Given the description of an element on the screen output the (x, y) to click on. 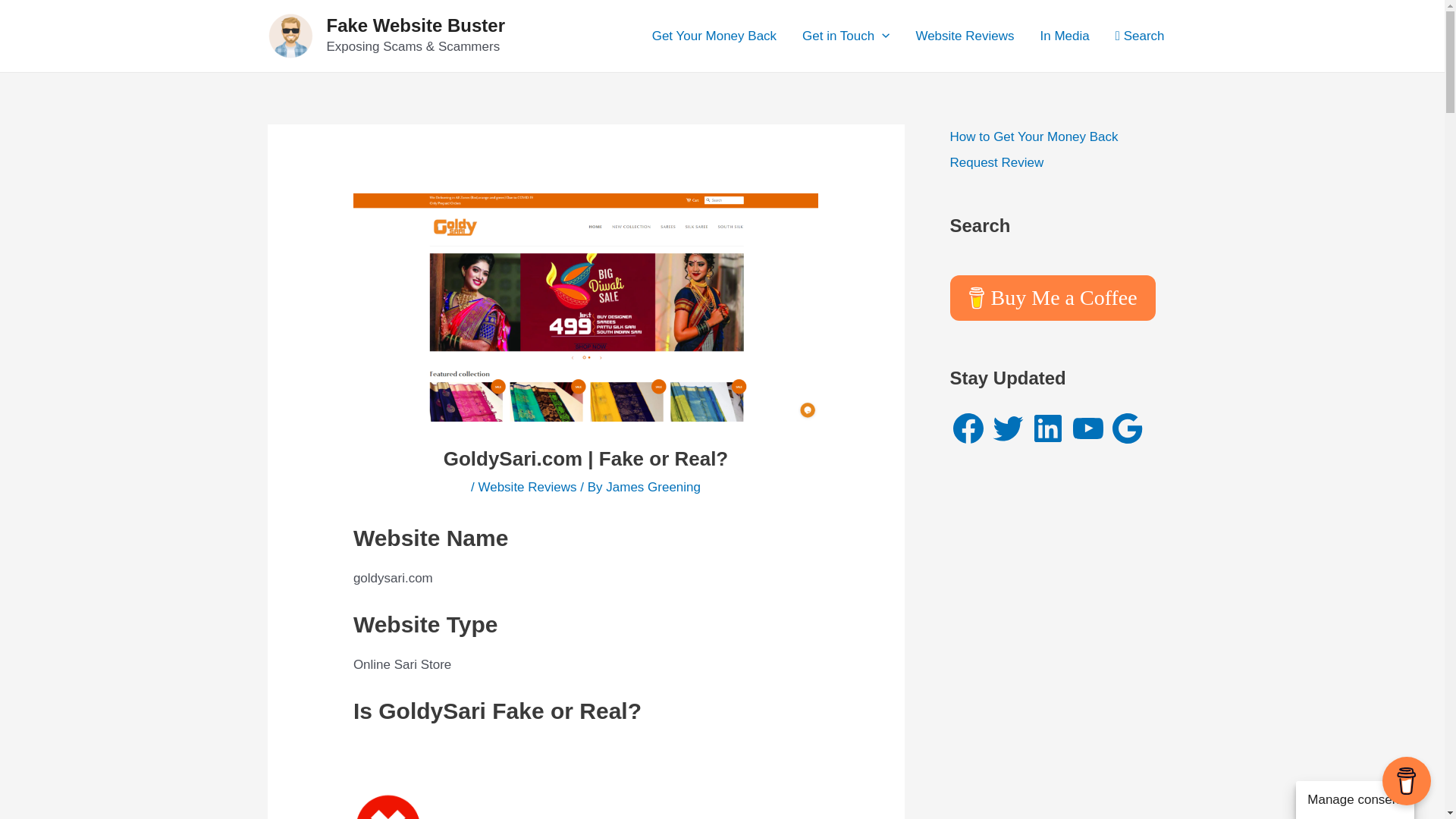
In Media (1064, 35)
View all posts by James Greening (652, 486)
Fake Website Buster (415, 25)
Website Reviews (964, 35)
Get in Touch (845, 35)
Get Your Money Back (714, 35)
